Given the description of an element on the screen output the (x, y) to click on. 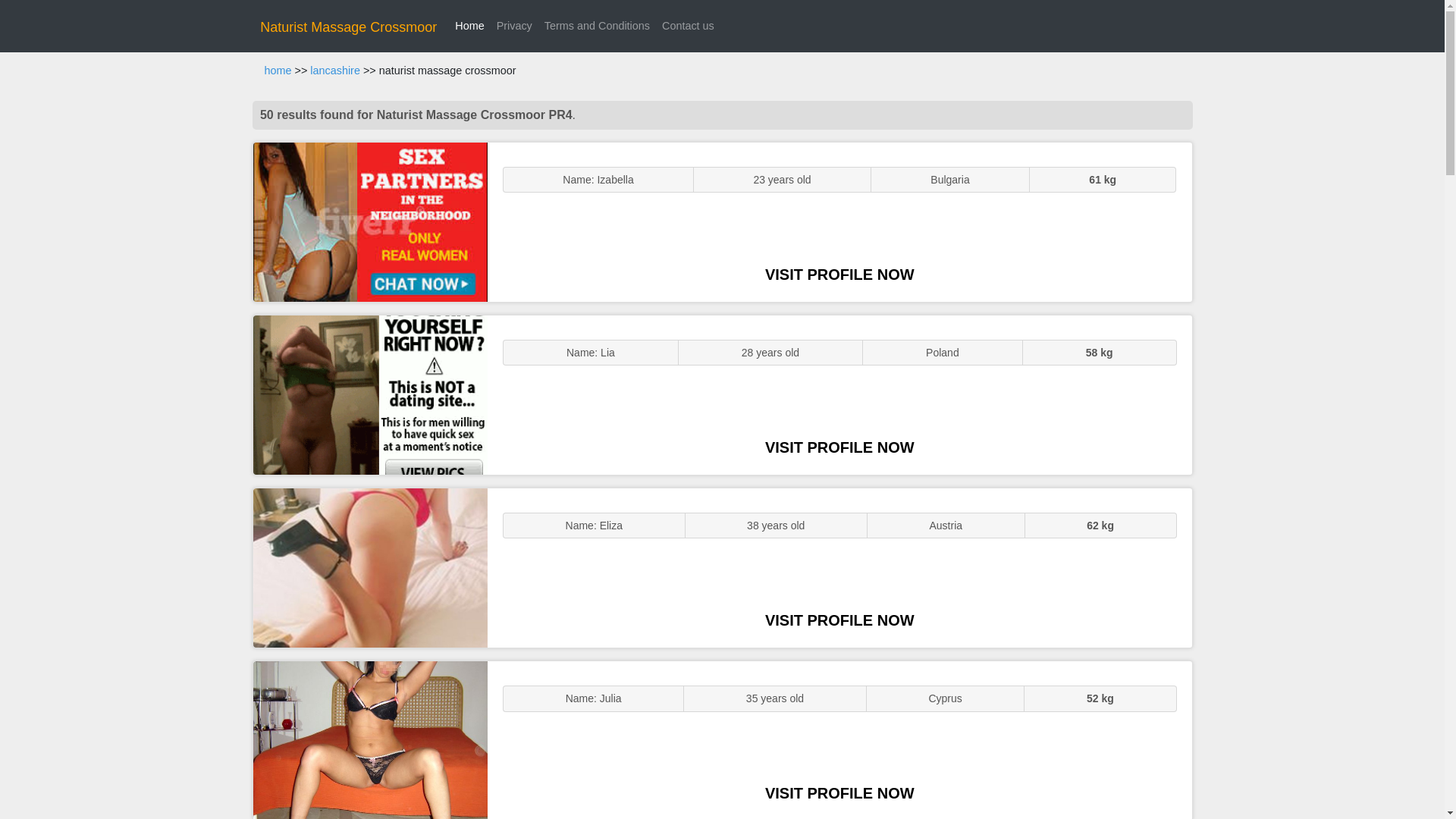
VISIT PROFILE NOW (839, 274)
VISIT PROFILE NOW (839, 792)
Naturist Massage Crossmoor (348, 27)
lancashire (334, 70)
Contact us (688, 25)
VISIT PROFILE NOW (839, 619)
GFE (370, 395)
VISIT PROFILE NOW (839, 446)
 ENGLISH STUNNER (370, 222)
Terms and Conditions (597, 25)
Sexy (370, 567)
Privacy (514, 25)
Sluts (370, 739)
home (277, 70)
